Given the description of an element on the screen output the (x, y) to click on. 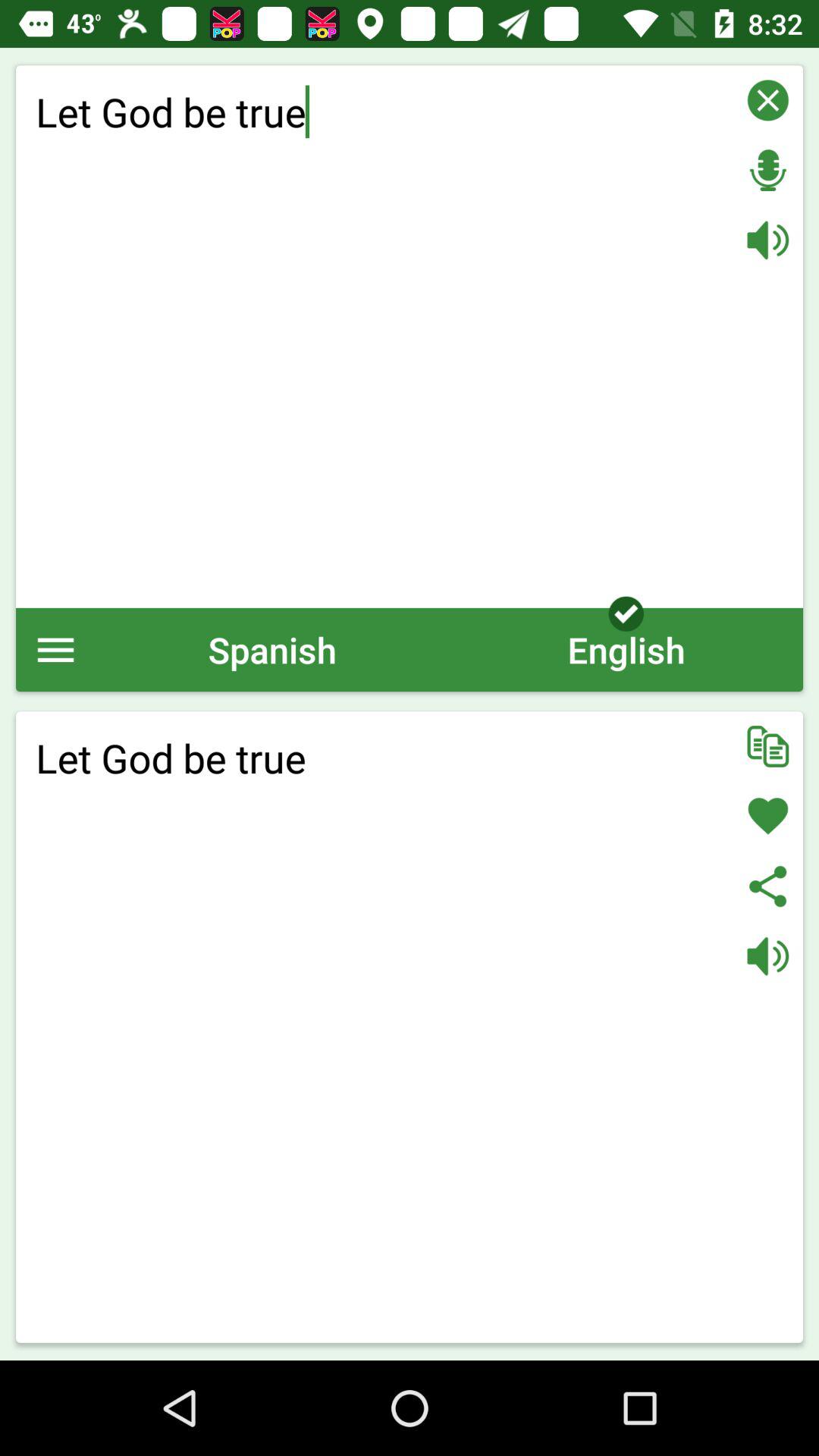
click the icon to the left of the spanish (55, 649)
